Given the description of an element on the screen output the (x, y) to click on. 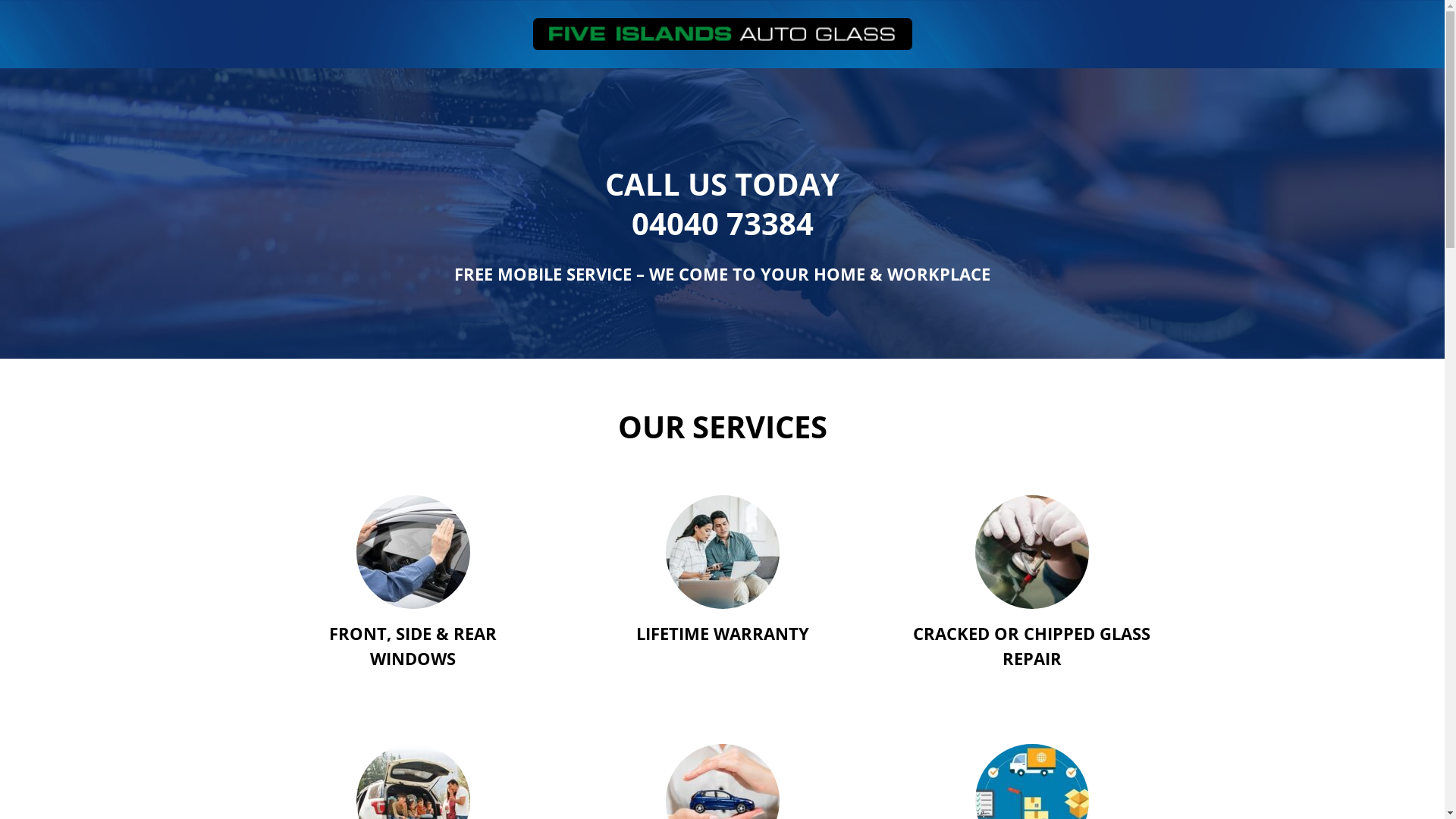
04040 73384 Element type: text (721, 223)
